Given the description of an element on the screen output the (x, y) to click on. 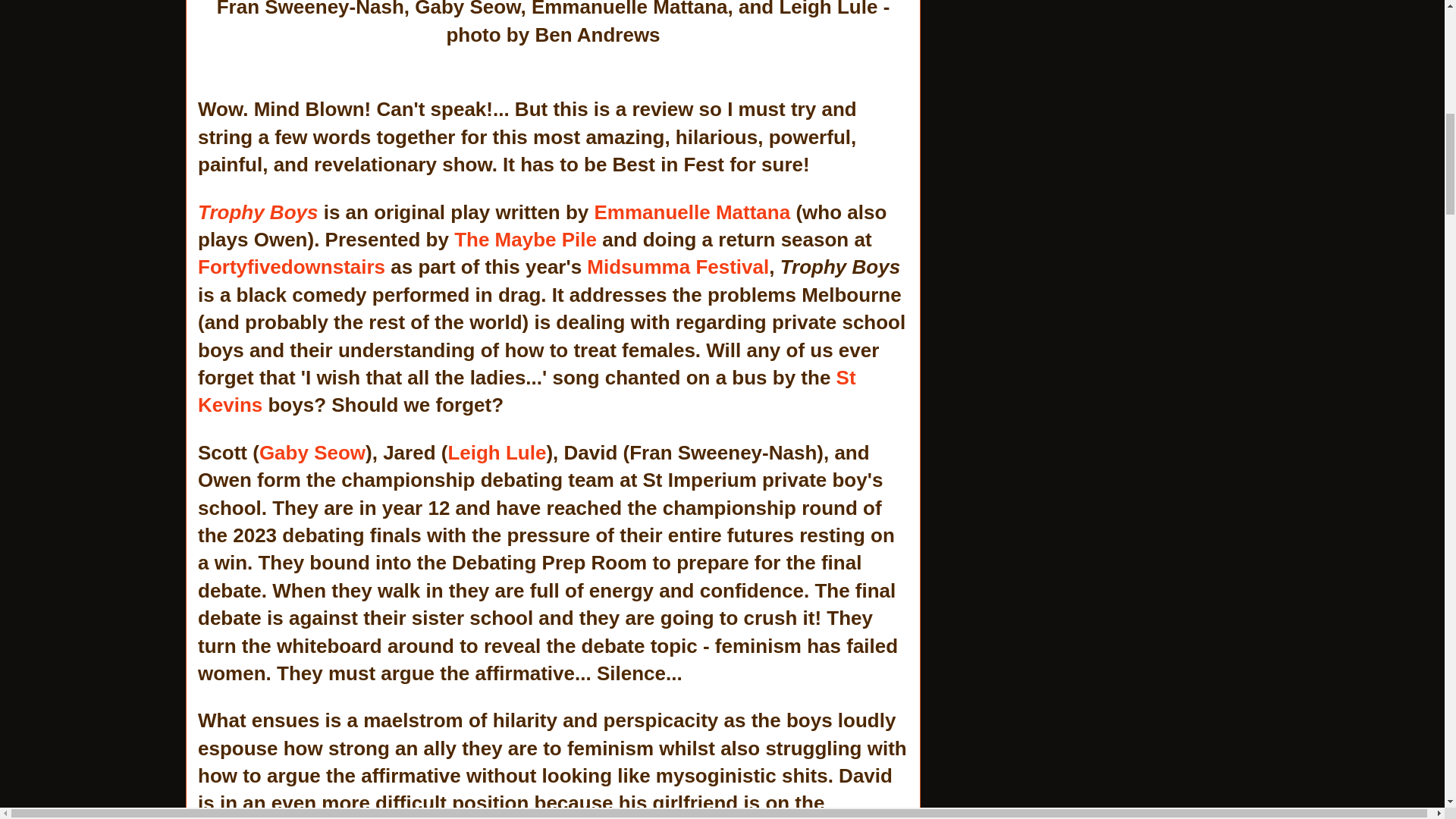
The Maybe Pile (525, 239)
Emmanuelle Mattana (692, 211)
Trophy Boys (257, 211)
Gaby Seow (312, 452)
Leigh Lule (496, 452)
Midsumma Festival (677, 266)
St Kevins (527, 391)
Fortyfivedownstairs (291, 266)
